Given the description of an element on the screen output the (x, y) to click on. 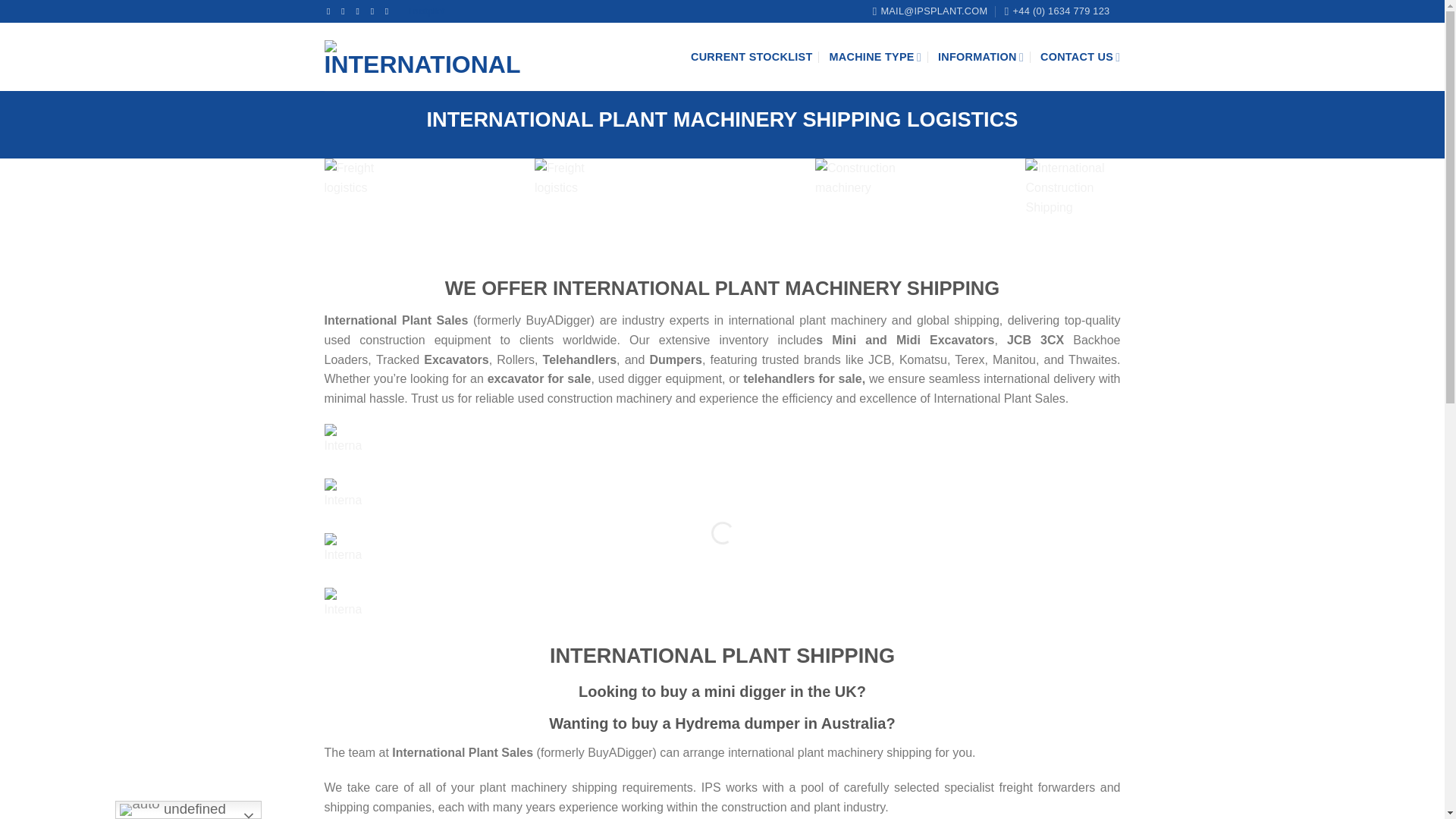
Follow on YouTube (389, 10)
Follow on TikTok (360, 10)
Follow on X (375, 10)
Trustpilot (425, 10)
Follow on Facebook (331, 10)
undefined (188, 809)
Follow on Instagram (345, 10)
